Given the description of an element on the screen output the (x, y) to click on. 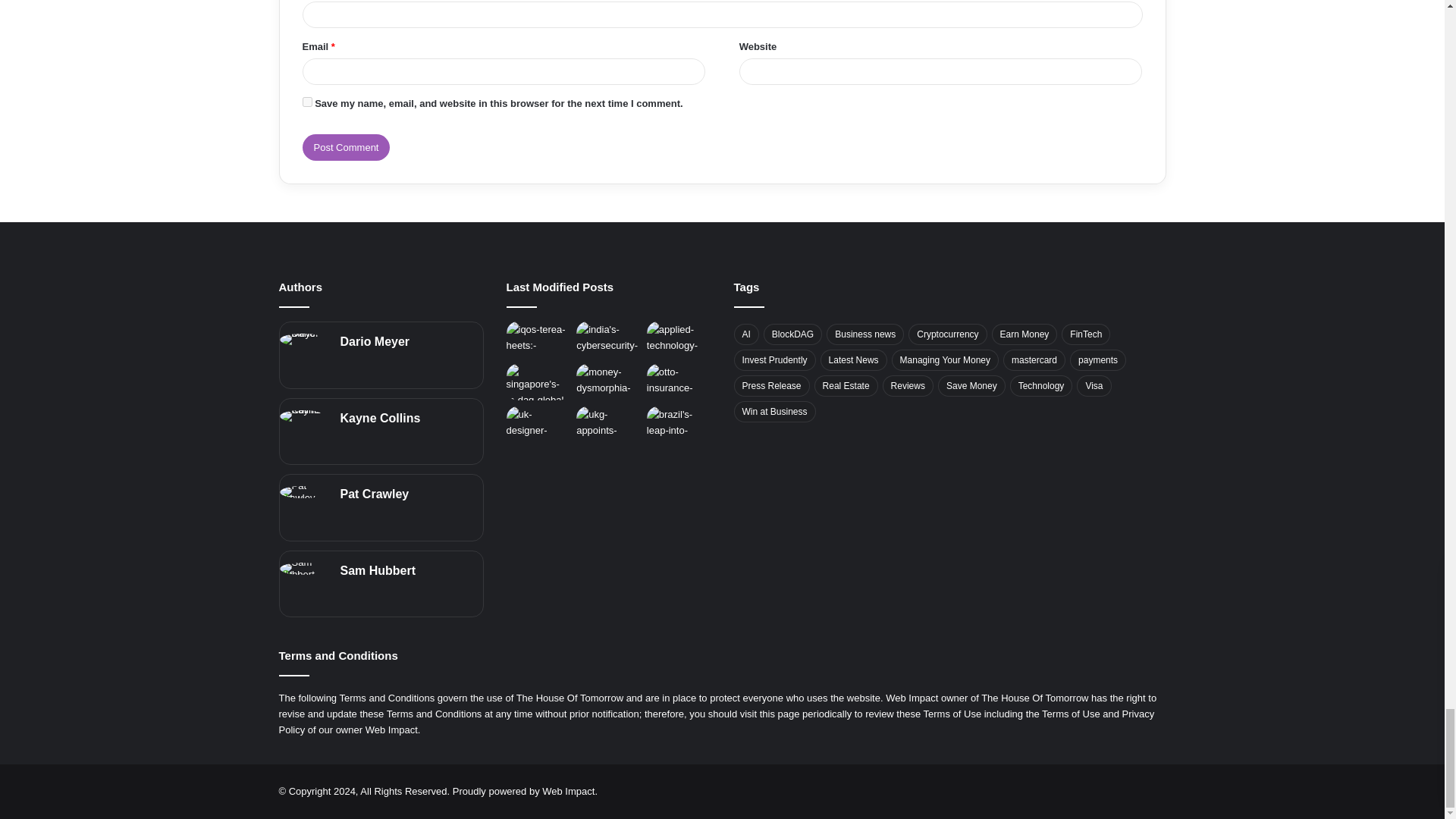
yes (306, 102)
Post Comment (345, 147)
